Given the description of an element on the screen output the (x, y) to click on. 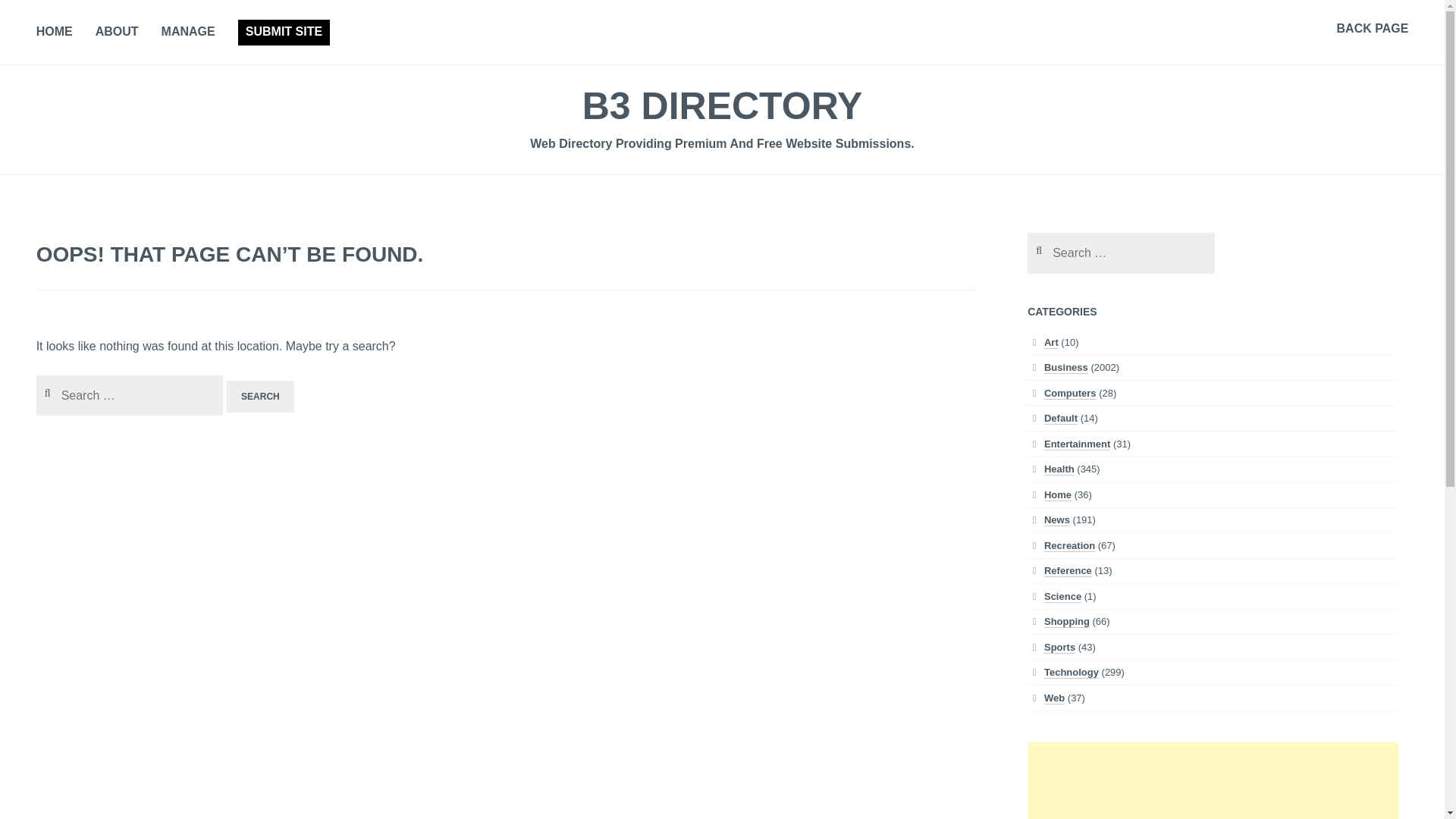
Health (1058, 469)
Computers (1069, 393)
Reference (1067, 571)
Home (1057, 494)
B3 DIRECTORY (722, 106)
Shopping (1066, 621)
Search (260, 396)
Default (1060, 418)
Web (1053, 698)
HOME (54, 32)
MANAGE (188, 32)
Science (1062, 596)
Sports (1059, 647)
News (1056, 520)
Recreation (1068, 545)
